Given the description of an element on the screen output the (x, y) to click on. 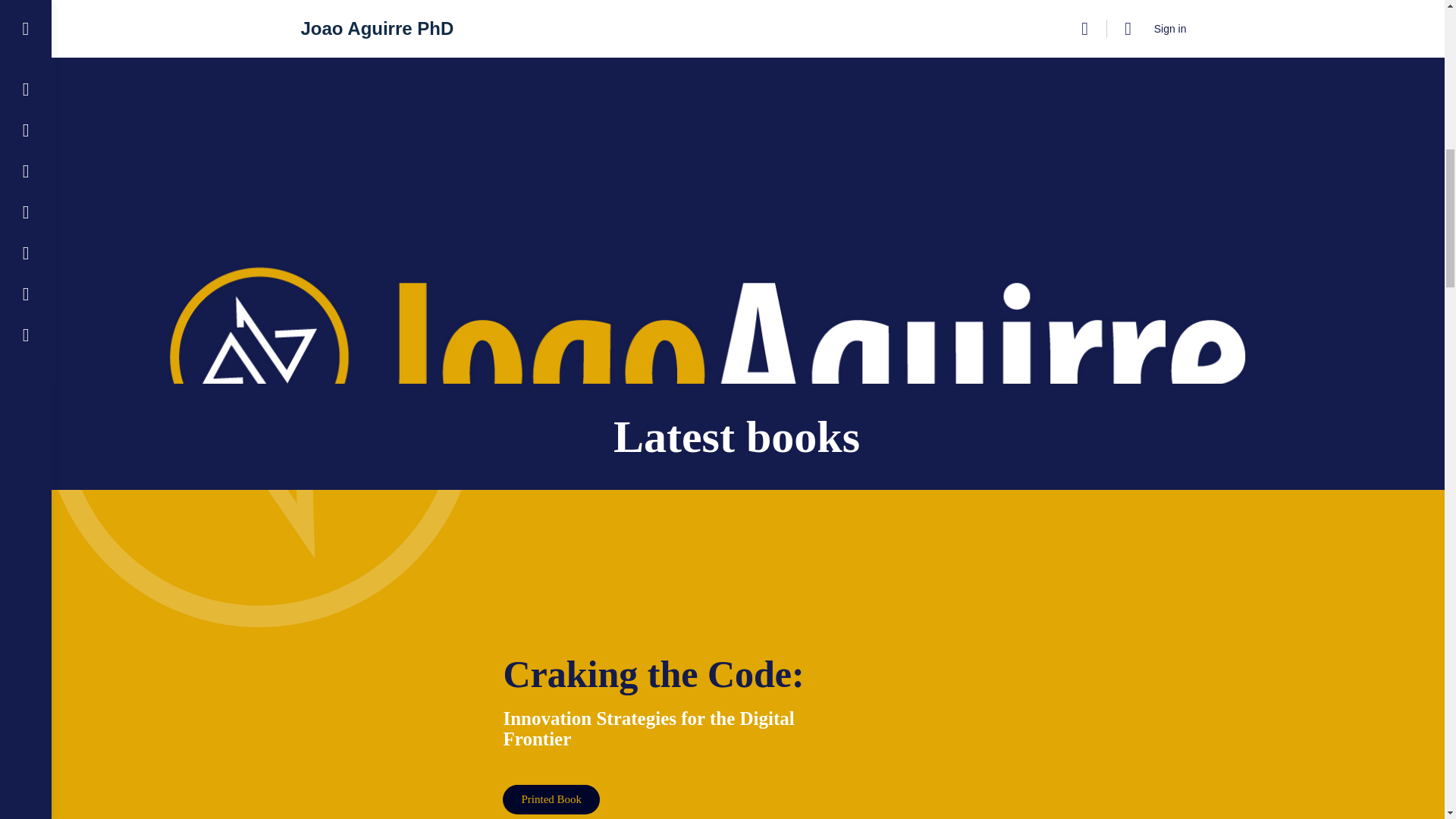
Page 1 (657, 728)
Printed Book (550, 799)
Latest books (736, 436)
